Given the description of an element on the screen output the (x, y) to click on. 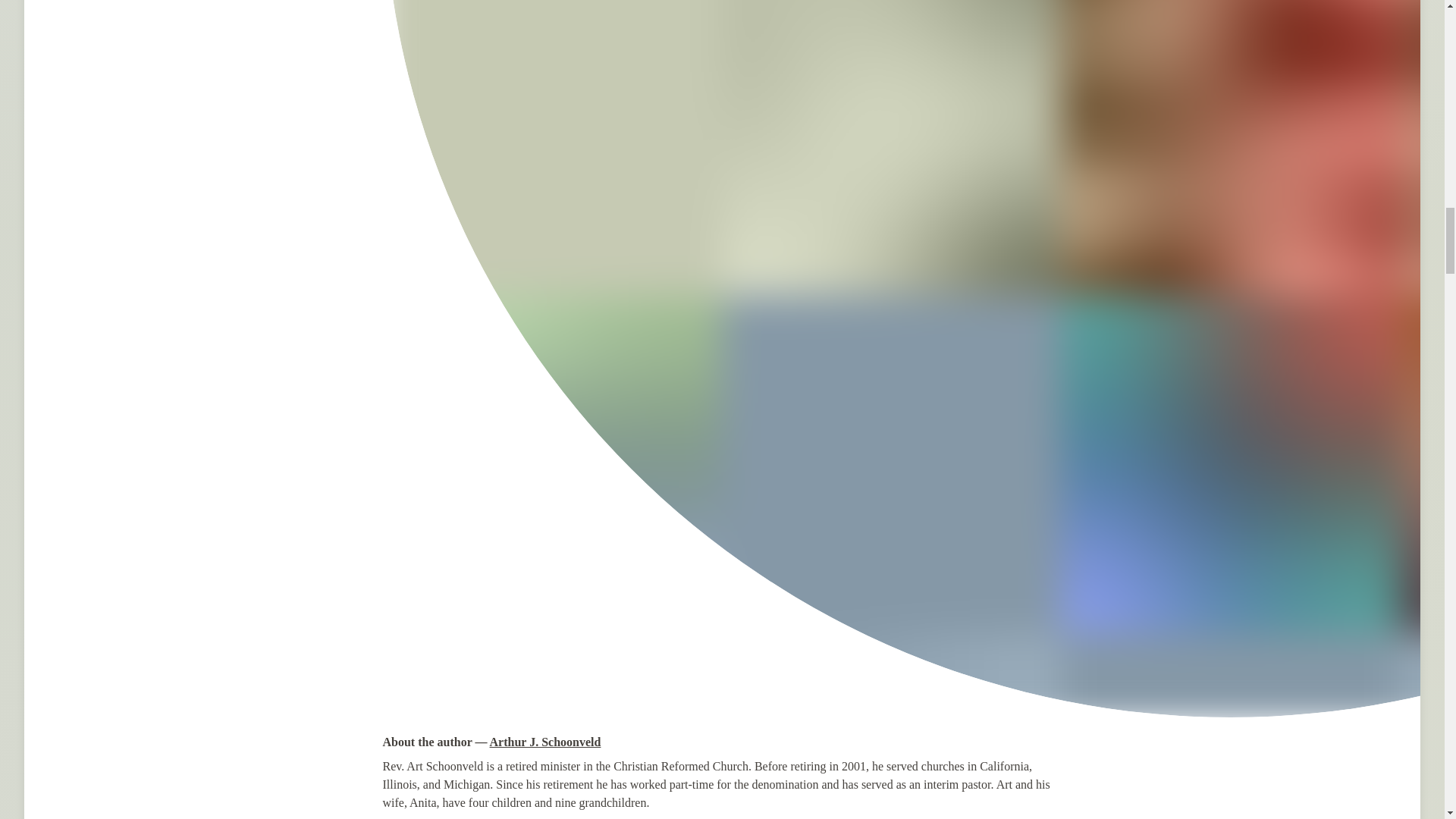
Arthur J. Schoonveld (545, 741)
